Given the description of an element on the screen output the (x, y) to click on. 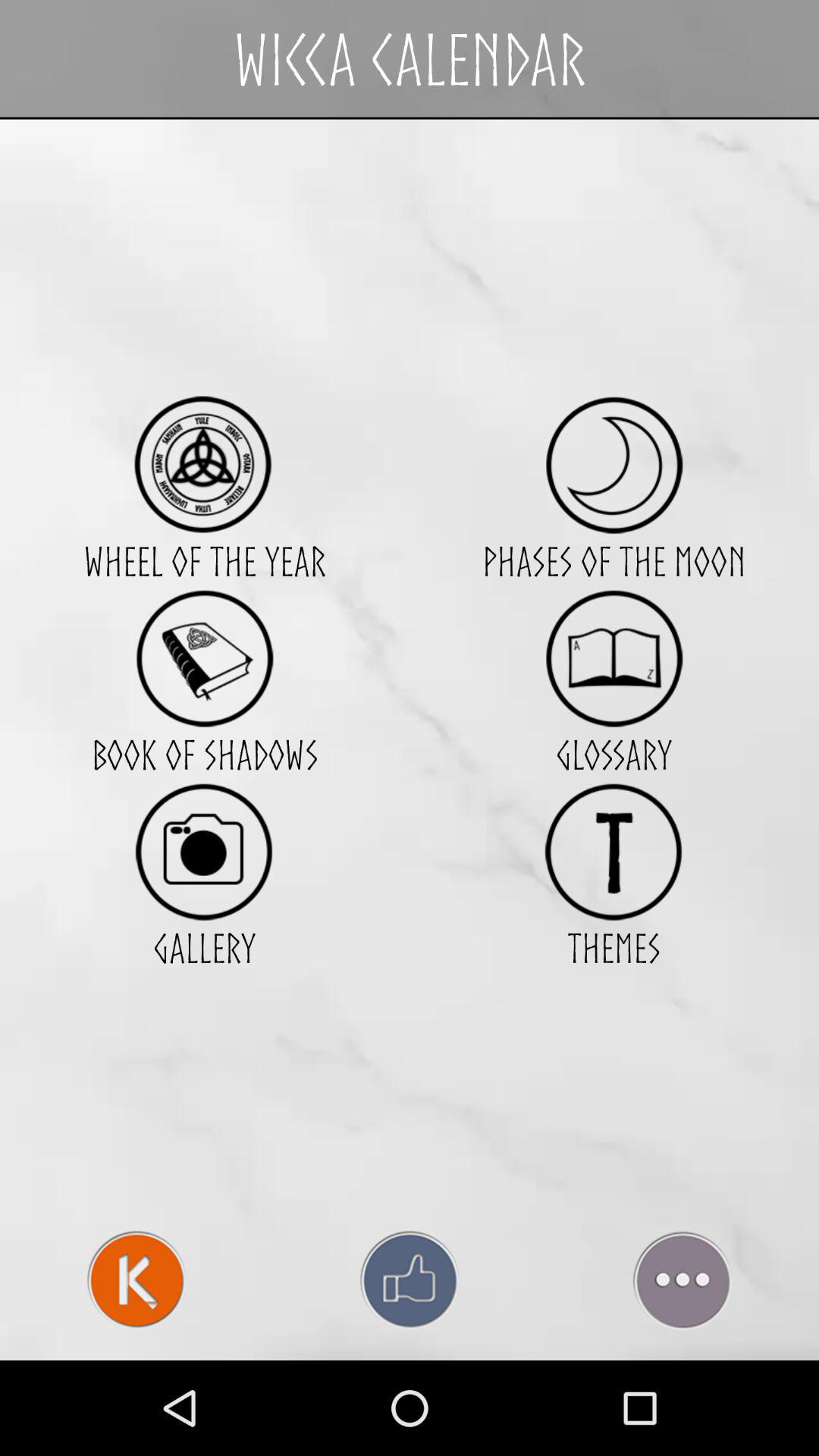
access shadow book (204, 658)
